Given the description of an element on the screen output the (x, y) to click on. 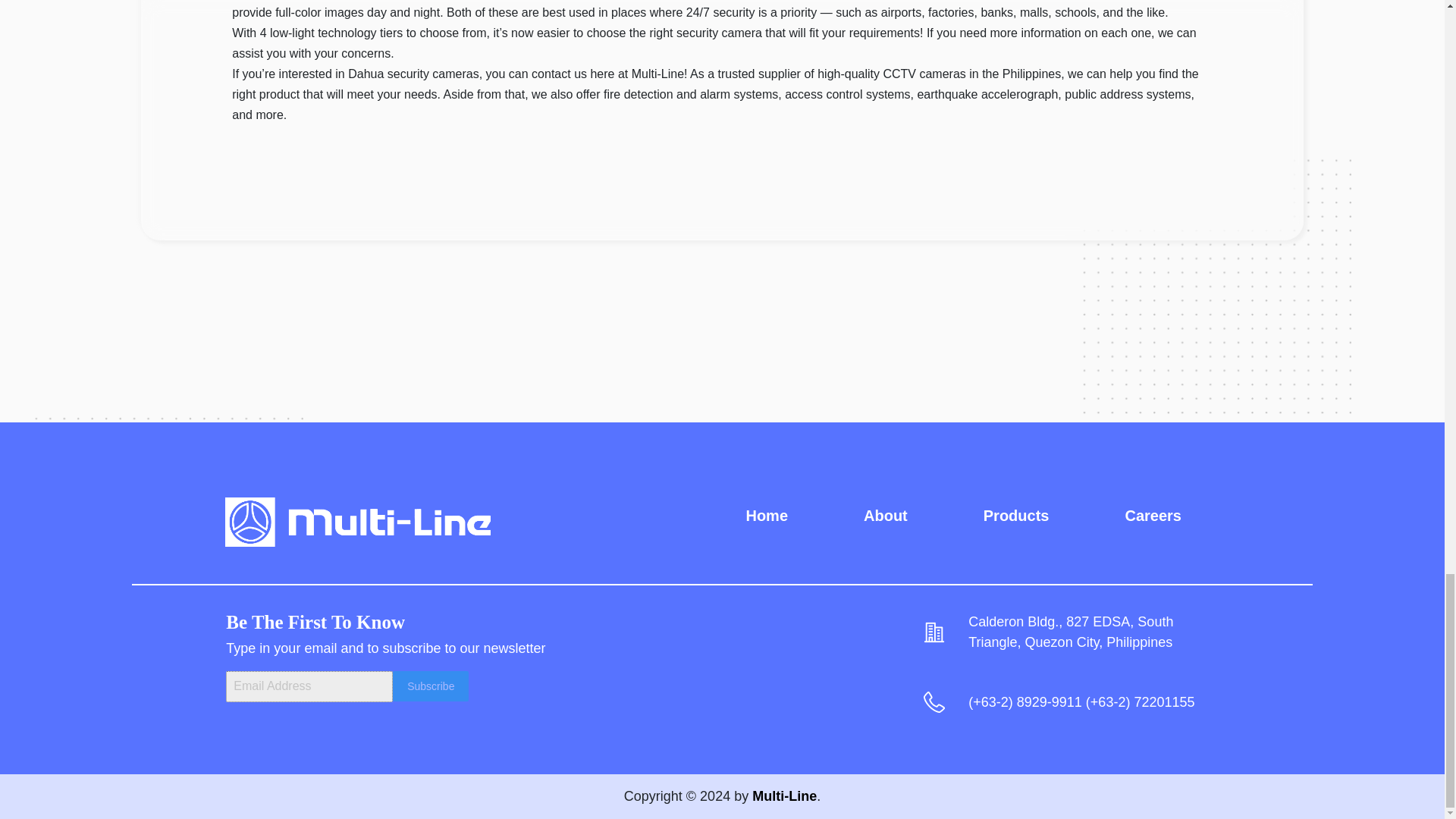
Products (1016, 515)
About (885, 515)
Multi-Line (784, 795)
Subscribe (430, 685)
Home (766, 515)
Careers (1152, 515)
